Given the description of an element on the screen output the (x, y) to click on. 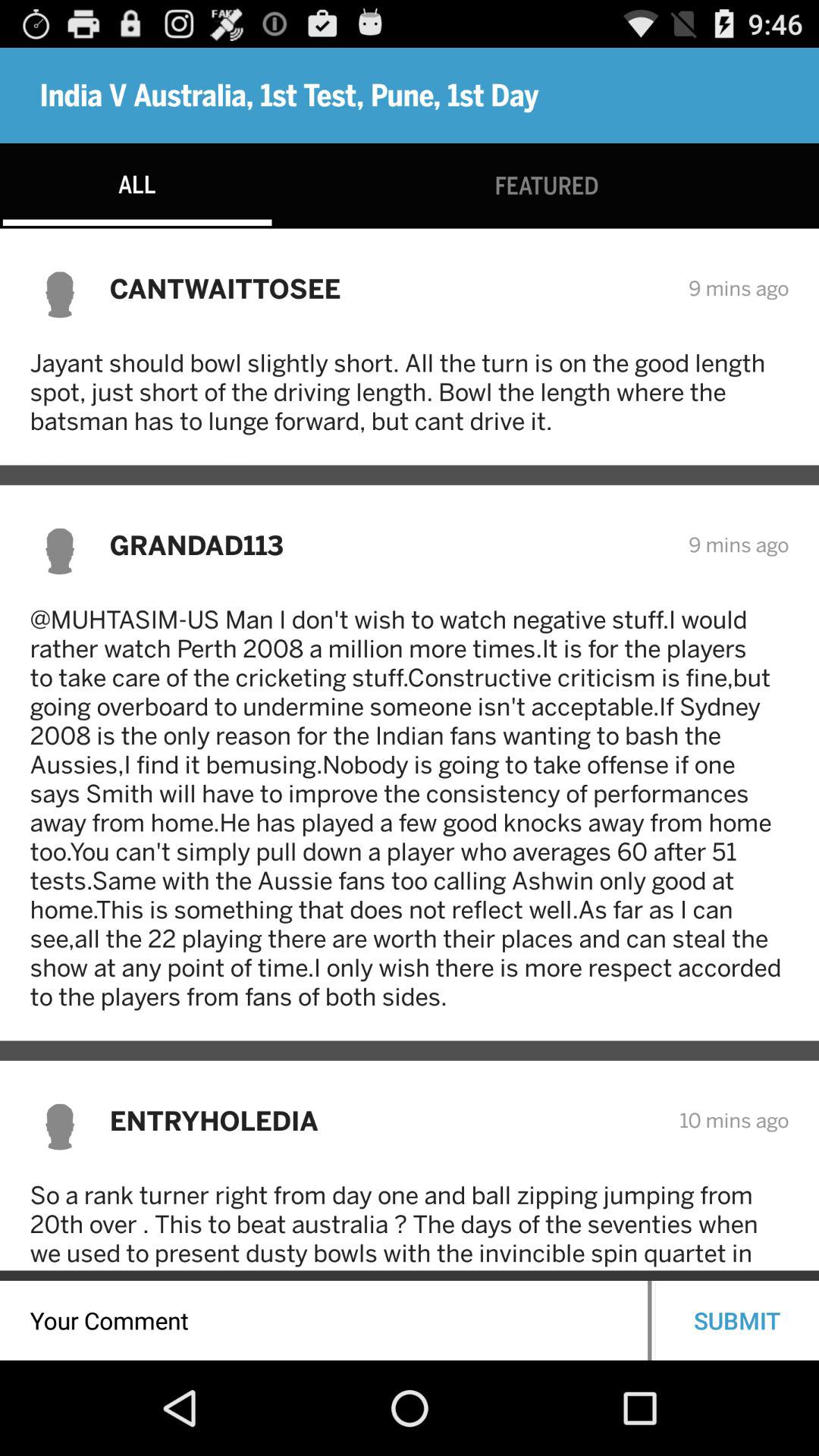
open so a rank item (409, 1225)
